Given the description of an element on the screen output the (x, y) to click on. 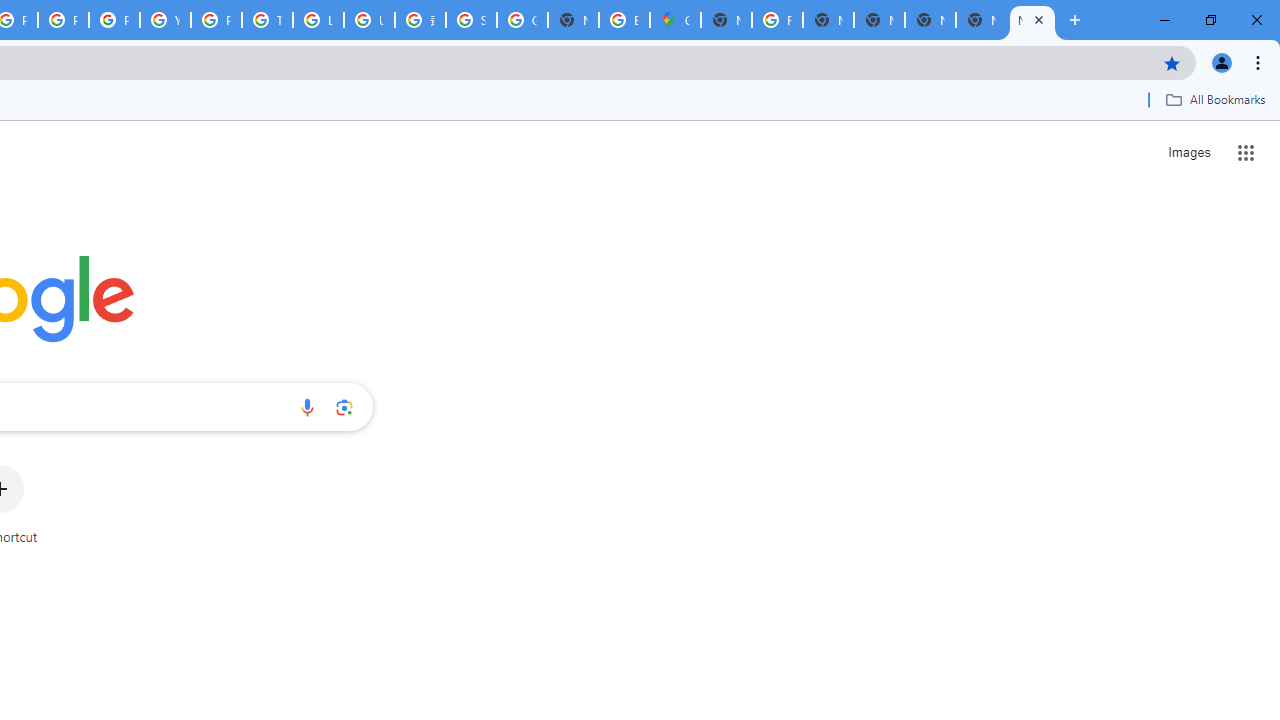
YouTube (164, 20)
Search by image (344, 407)
New Tab (726, 20)
All Bookmarks (1215, 99)
Explore new street-level details - Google Maps Help (624, 20)
Sign in - Google Accounts (470, 20)
Tips & tricks for Chrome - Google Chrome Help (267, 20)
Google Maps (675, 20)
